Given the description of an element on the screen output the (x, y) to click on. 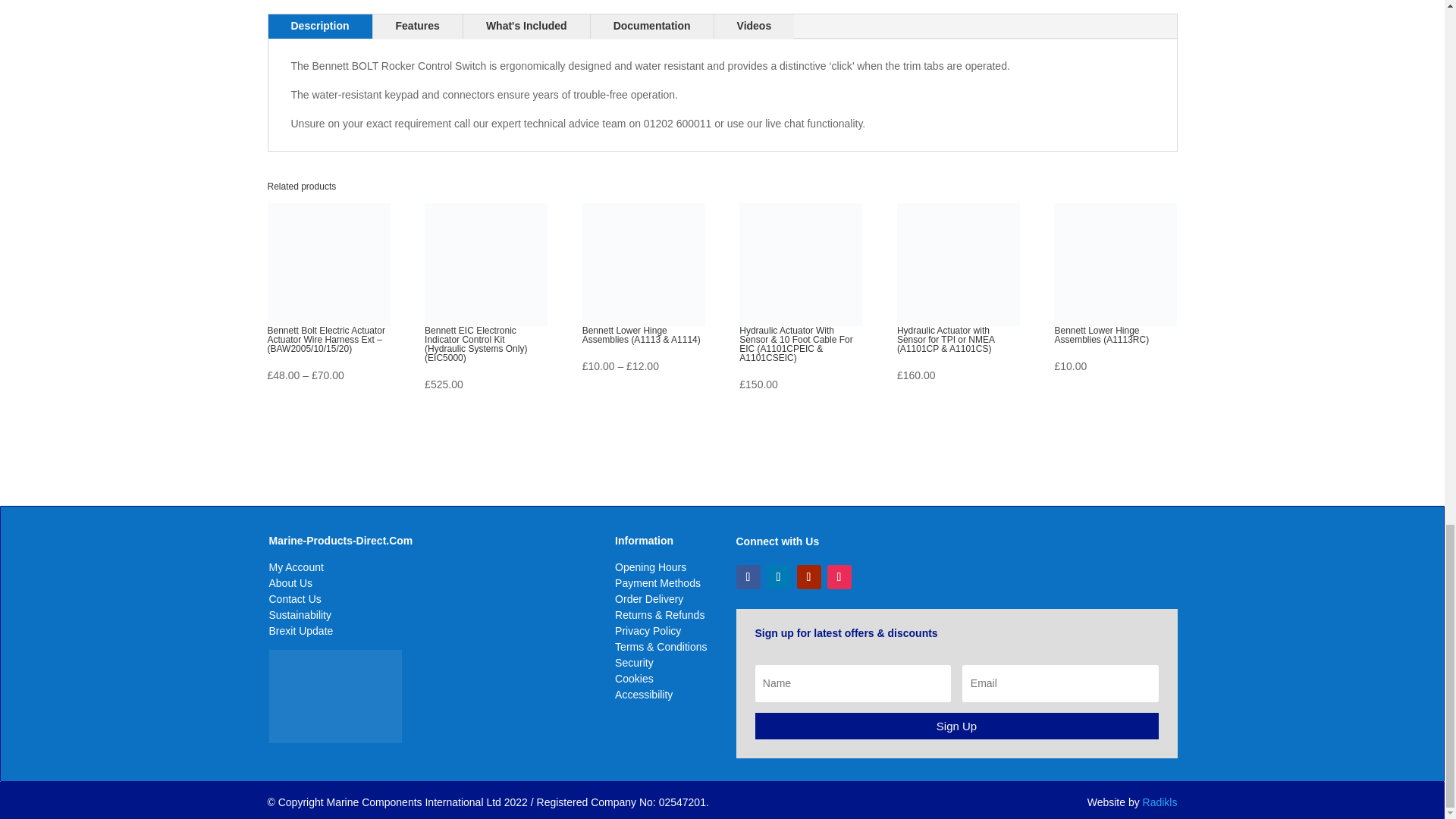
Follow on Youtube (808, 576)
Follow on Instagram (838, 576)
Follow on Facebook (747, 576)
Follow on LinkedIn (777, 576)
